Given the description of an element on the screen output the (x, y) to click on. 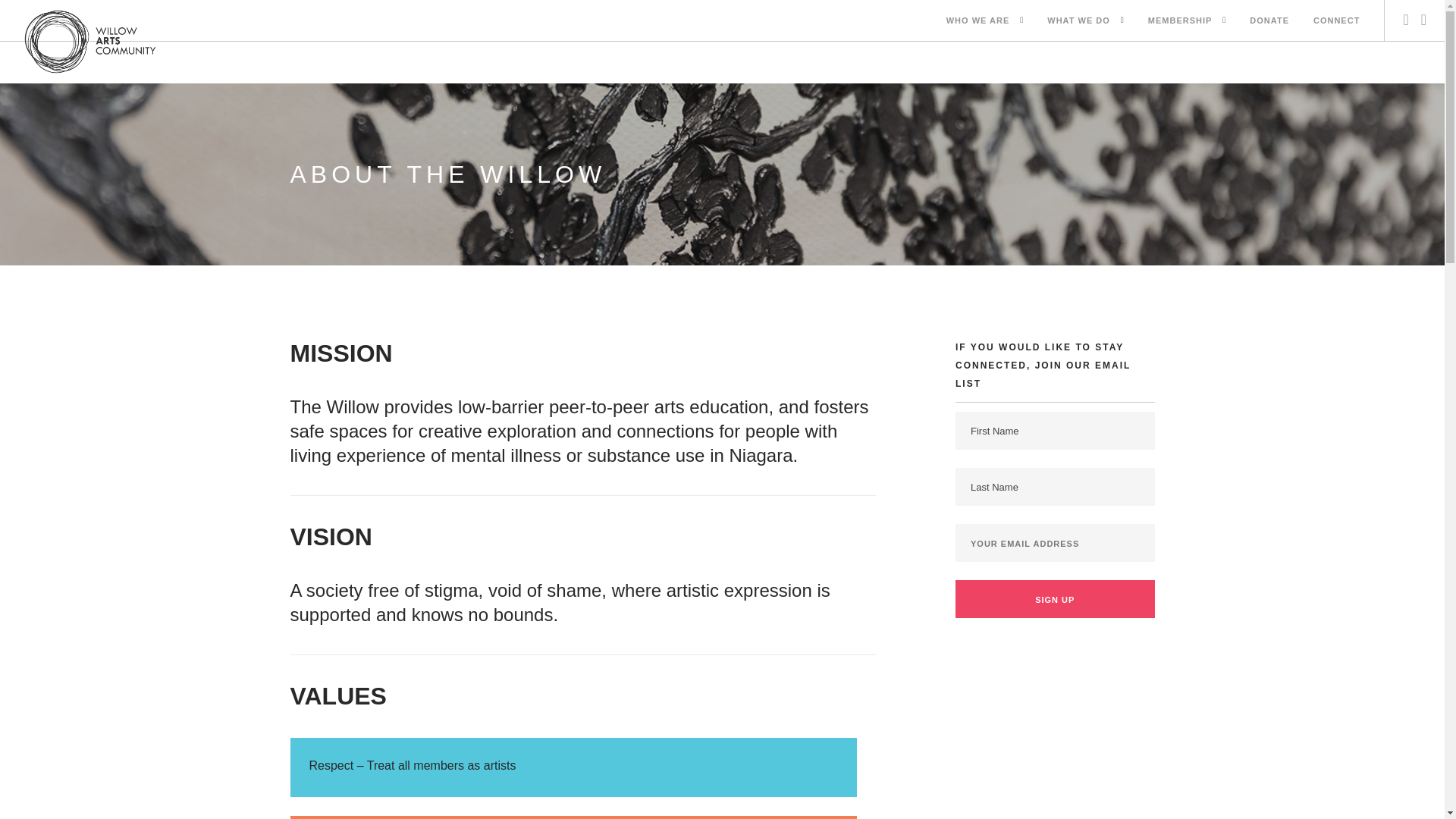
Sign up (1054, 598)
Last Name (1054, 486)
CONNECT (1336, 21)
MEMBERSHIP (1180, 21)
WHAT WE DO (1077, 21)
DONATE (1268, 21)
Sign up (1054, 598)
First Name (1054, 430)
WHO WE ARE (978, 21)
